Given the description of an element on the screen output the (x, y) to click on. 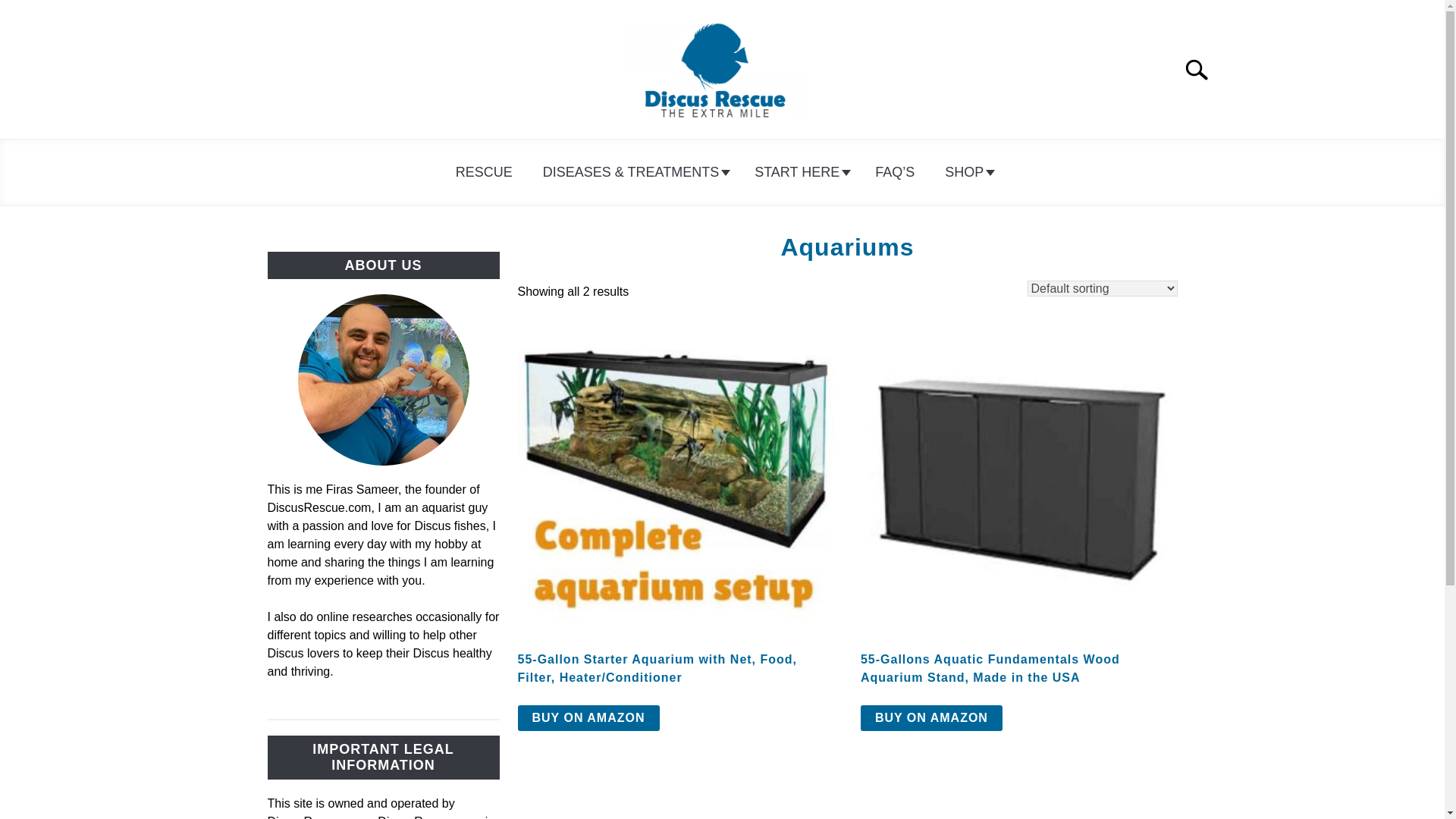
Search (1203, 69)
RESCUE (484, 172)
